Given the description of an element on the screen output the (x, y) to click on. 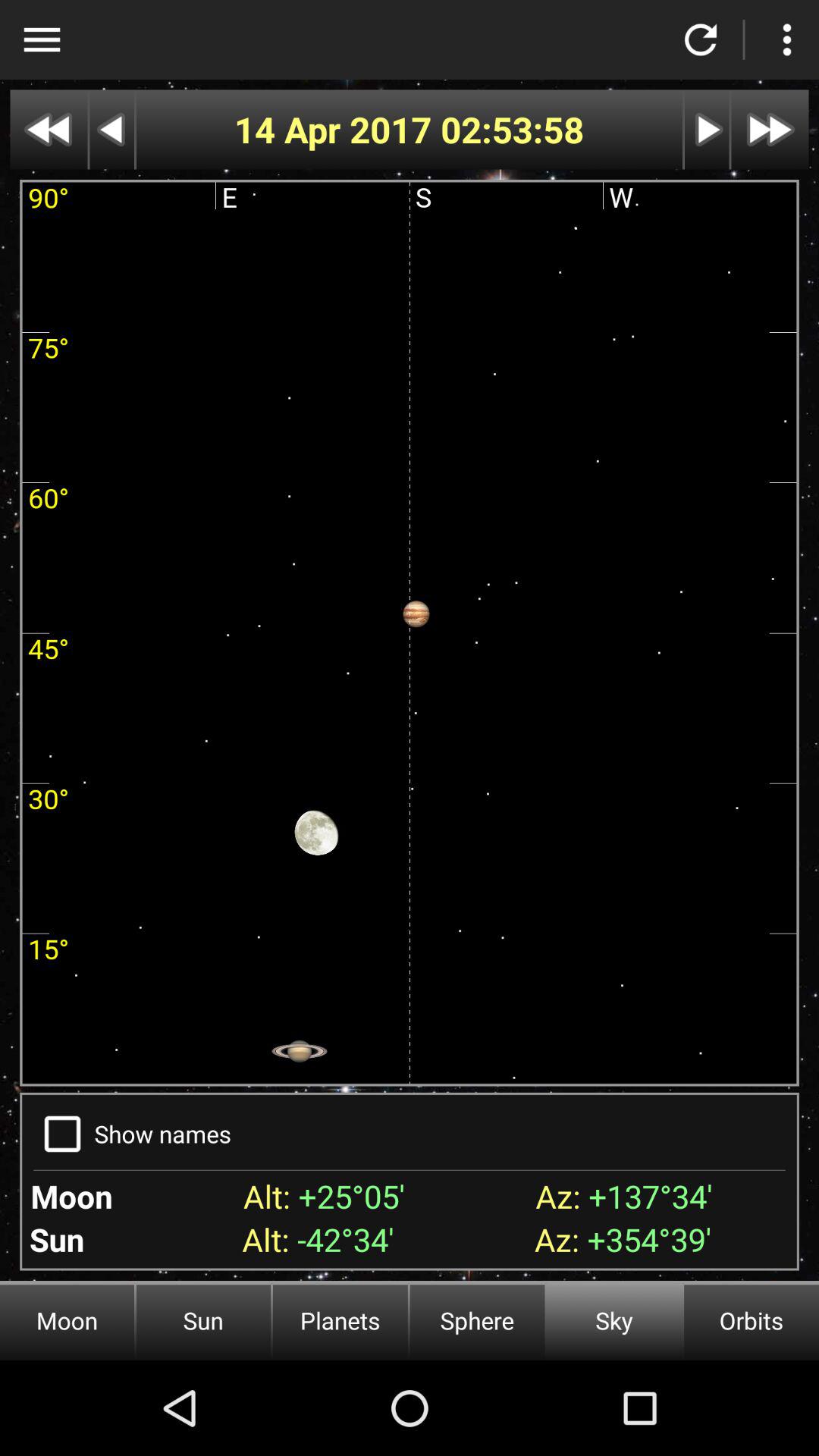
turn on app to the left of the 02:53:58 (337, 129)
